Given the description of an element on the screen output the (x, y) to click on. 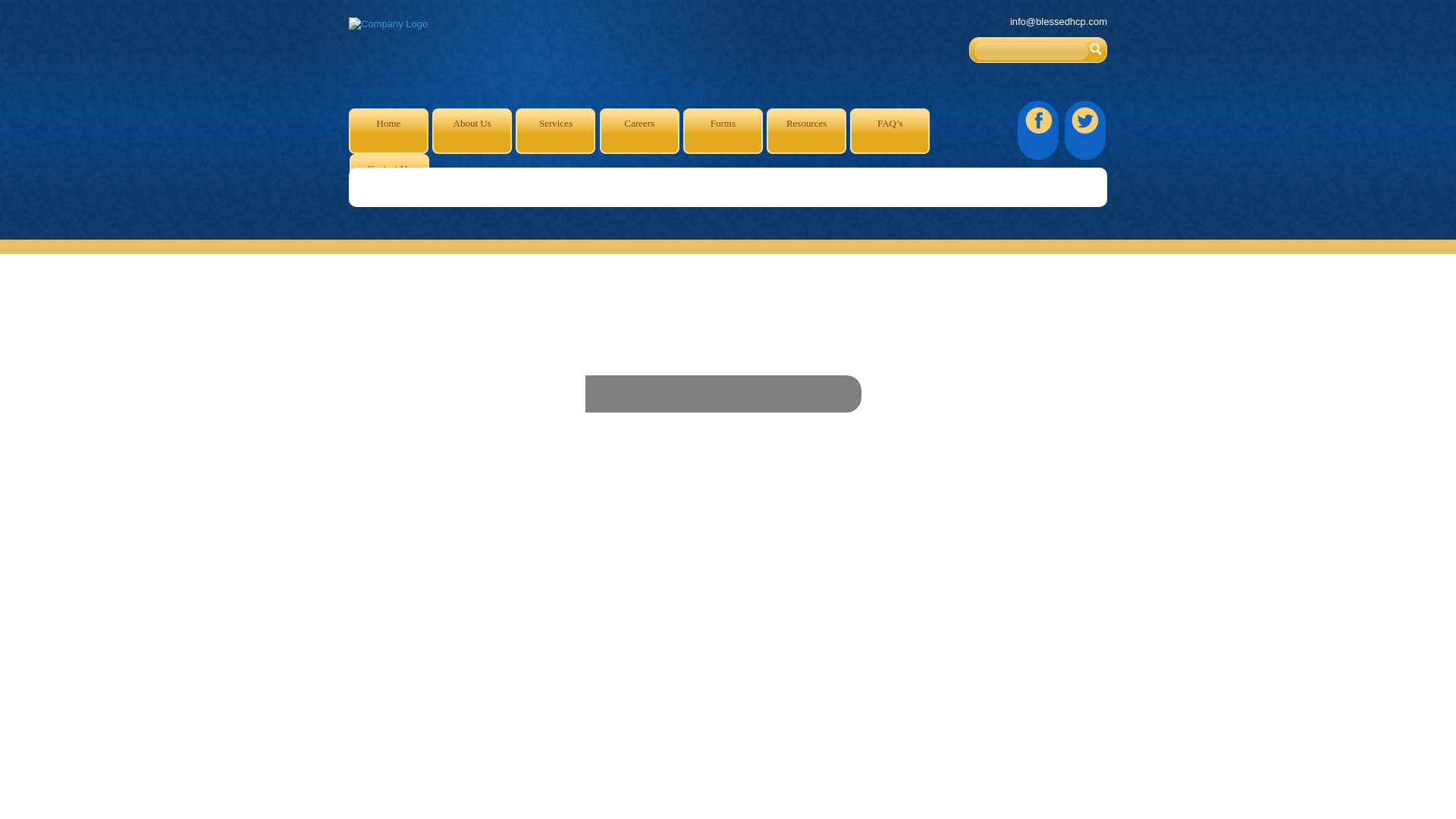
Services (555, 130)
Contact Us (389, 176)
Home (388, 130)
Resources (806, 130)
About Us (472, 130)
Careers (639, 130)
Forms (722, 130)
